Given the description of an element on the screen output the (x, y) to click on. 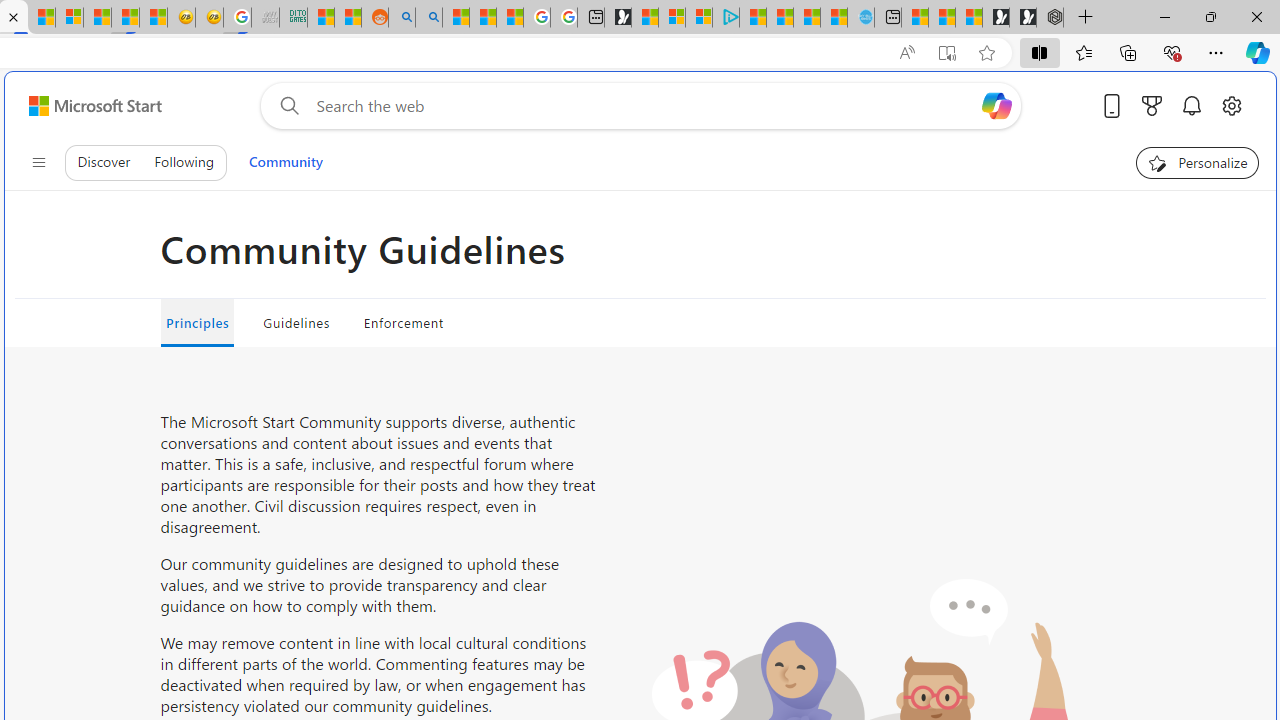
Enter your search term (644, 106)
Home | Sky Blue Bikes - Sky Blue Bikes (860, 17)
Enforcement (403, 322)
Skip to content (87, 105)
14 Common Myths Debunked By Scientific Facts (41, 17)
